Given the description of an element on the screen output the (x, y) to click on. 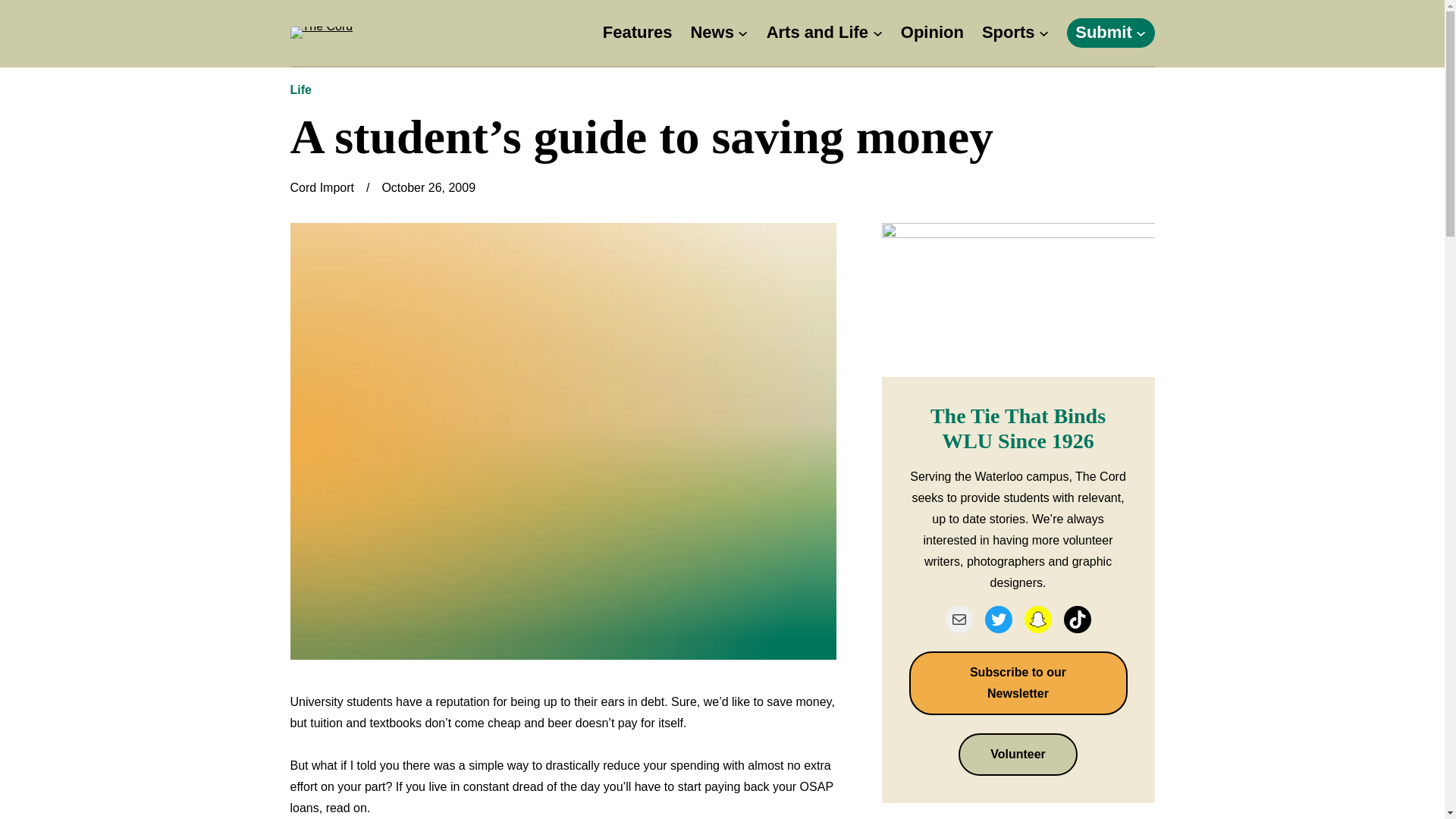
Arts and Life (817, 32)
TikTok (1076, 619)
Features (637, 32)
Submit (1103, 32)
Mail (958, 619)
Snapchat (1037, 619)
Opinion (932, 32)
Twitter (997, 619)
Sports (1008, 32)
Life (300, 89)
